Given the description of an element on the screen output the (x, y) to click on. 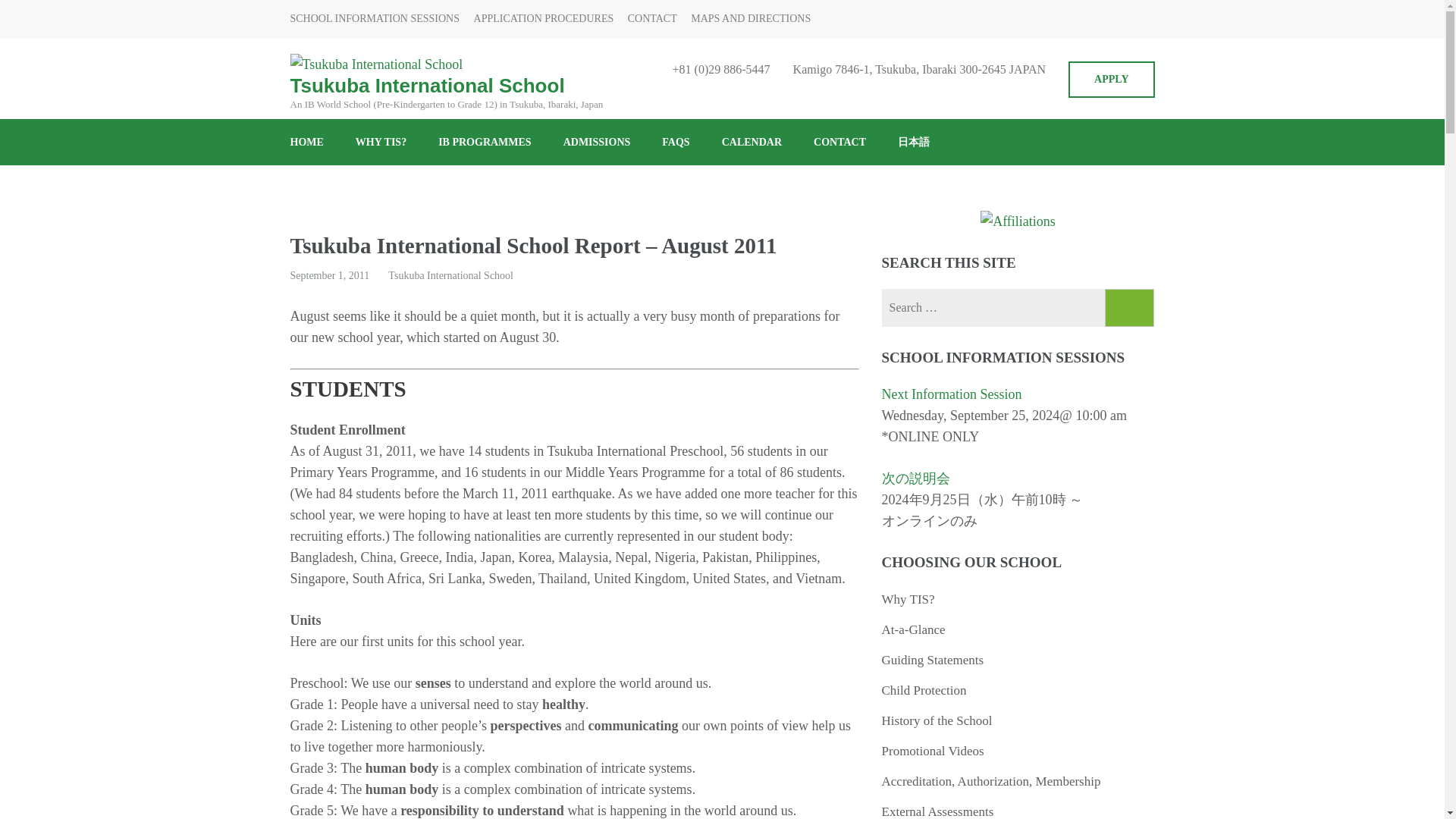
Search (1129, 307)
APPLY (1111, 79)
MAPS AND DIRECTIONS (746, 18)
Tsukuba International School (426, 85)
CONTACT (648, 18)
SCHOOL INFORMATION SESSIONS (374, 18)
Search (1129, 307)
APPLICATION PROCEDURES (539, 18)
